Given the description of an element on the screen output the (x, y) to click on. 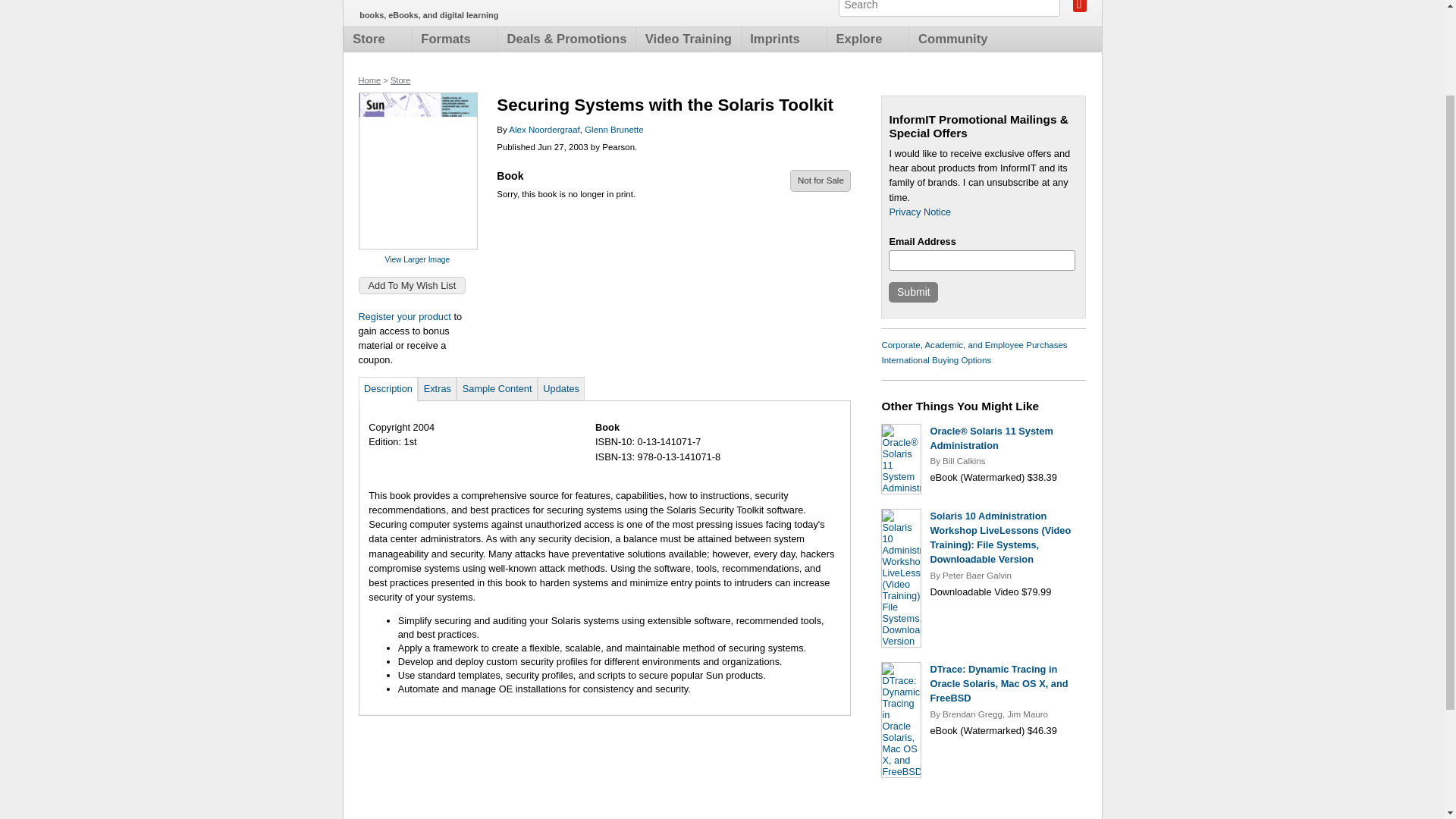
Home (369, 80)
Add To My Wish List (411, 285)
Alex Noordergraaf (543, 129)
Register your product (403, 316)
Sample Content (497, 388)
Description (388, 388)
Updates (561, 388)
Home (446, 3)
Extras (437, 388)
Store (400, 80)
